Given the description of an element on the screen output the (x, y) to click on. 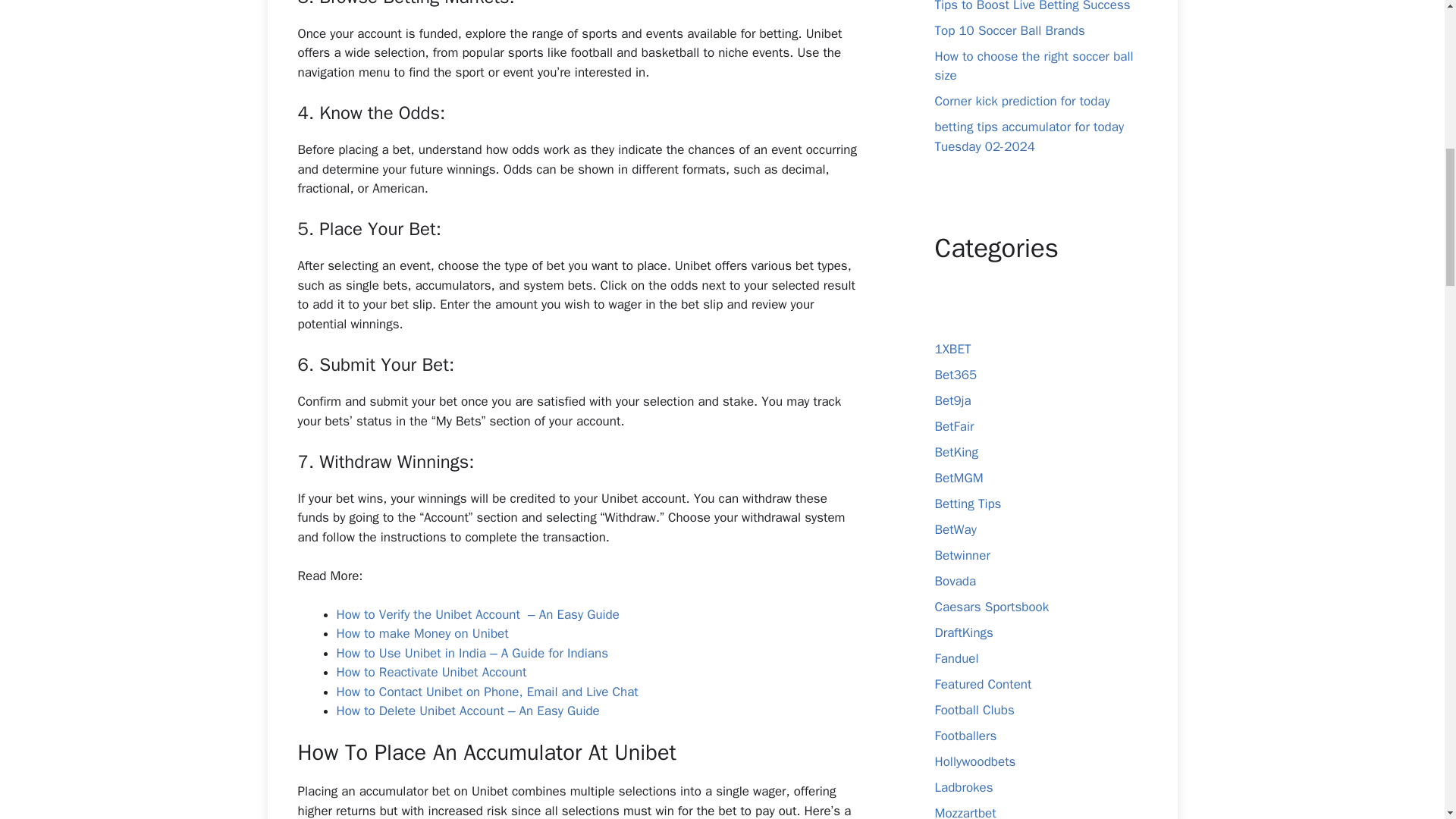
How to Reactivate Unibet Account (431, 672)
How to make Money on Unibet (422, 633)
How to Contact Unibet on Phone, Email and Live Chat (487, 691)
